Given the description of an element on the screen output the (x, y) to click on. 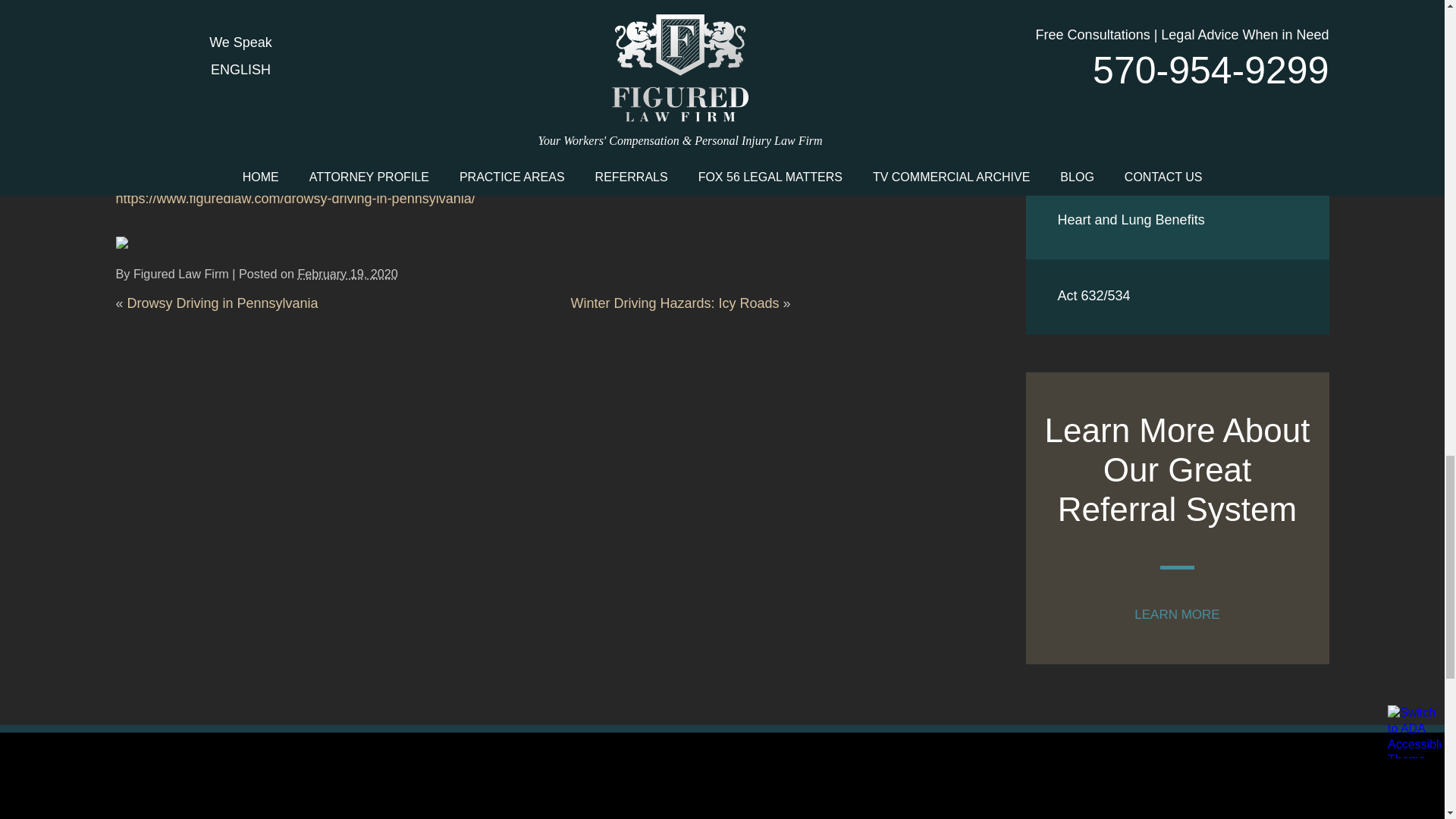
LinkedIn (142, 242)
Twitter (131, 242)
Facebook (121, 242)
2020-02-19T03:00:41-0800 (347, 273)
